Given the description of an element on the screen output the (x, y) to click on. 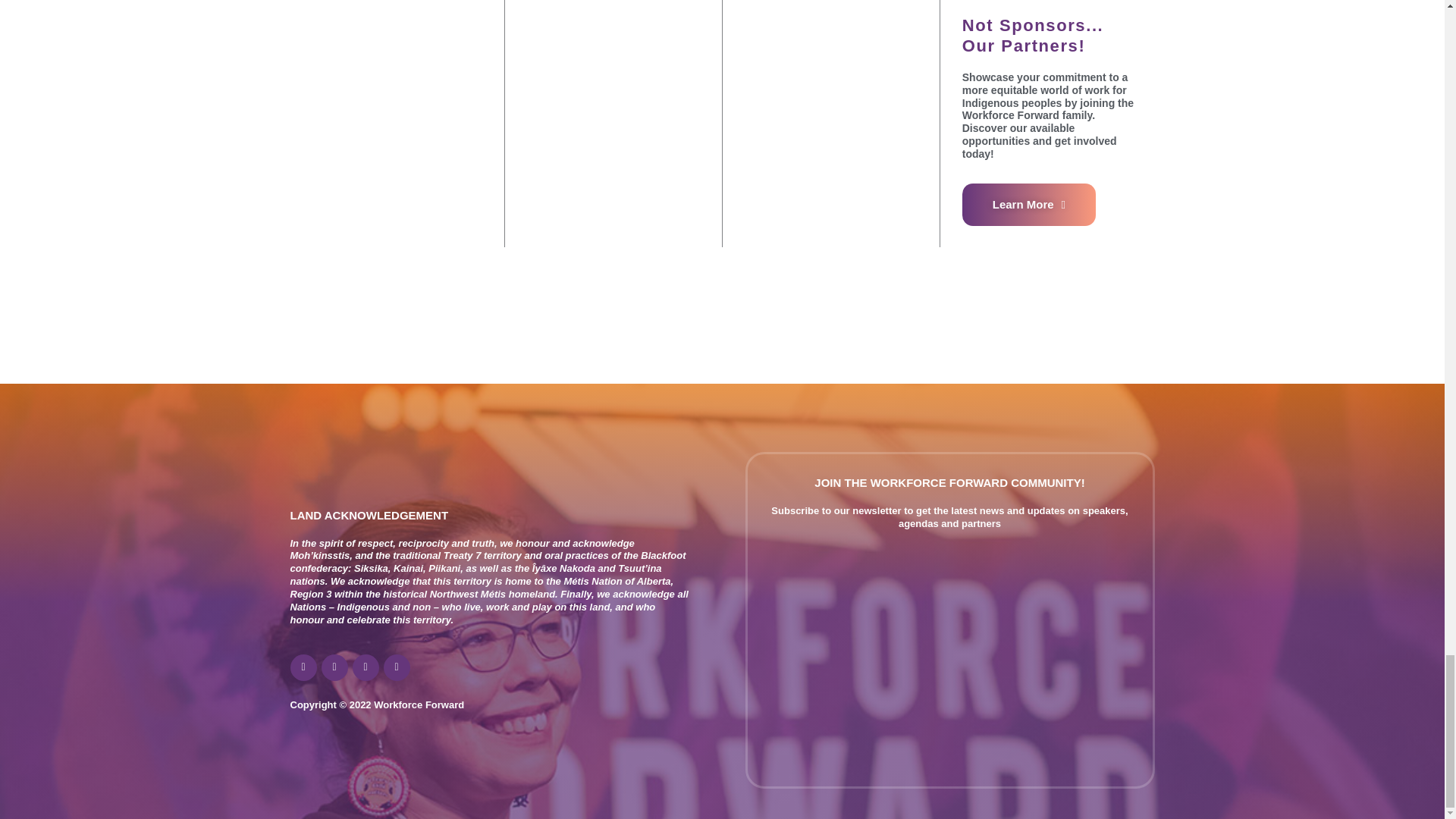
Form 0 (949, 649)
